Given the description of an element on the screen output the (x, y) to click on. 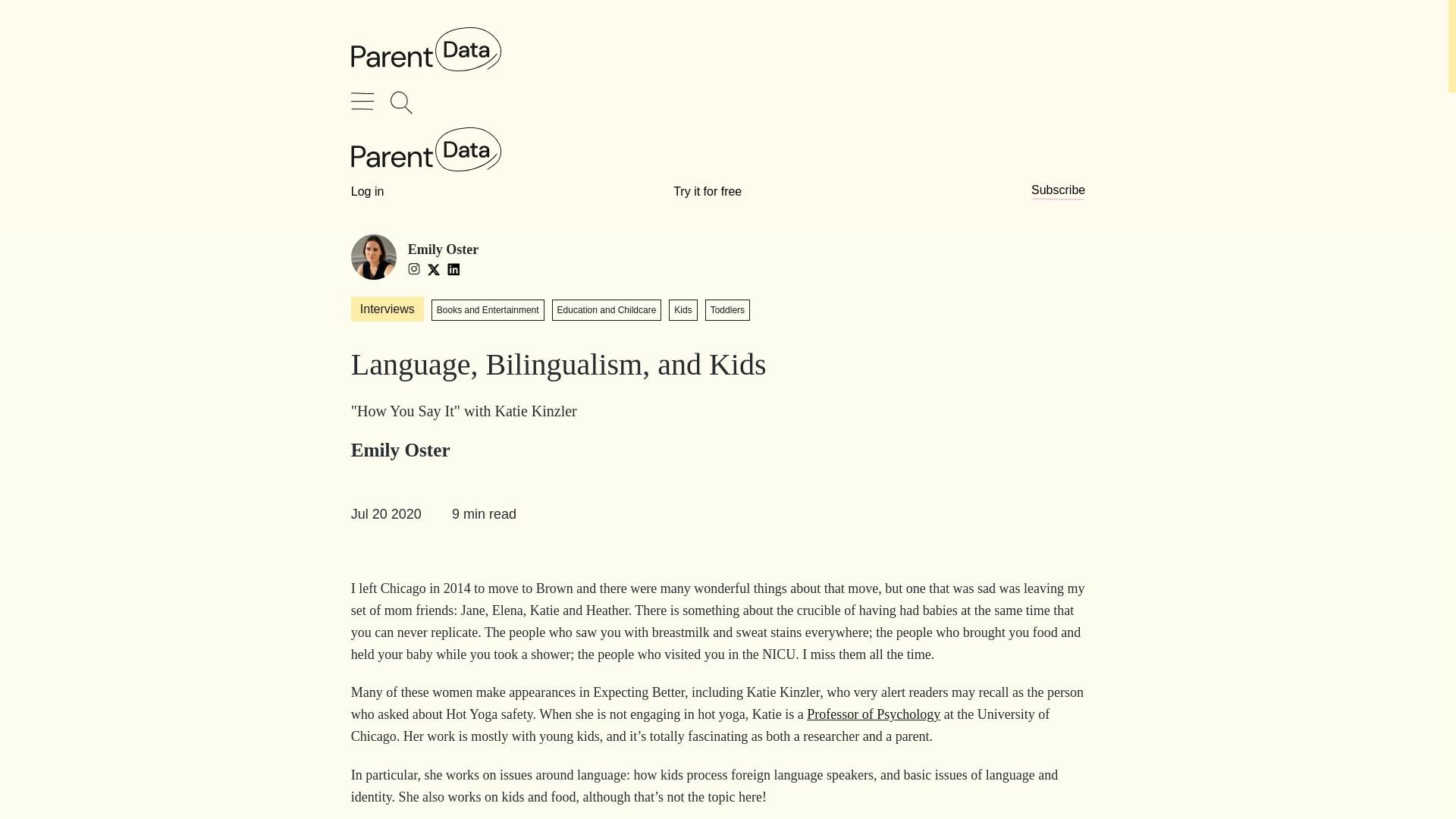
Books and Entertainment (487, 310)
Kids (682, 310)
Log in (367, 191)
Emily Oster (373, 260)
Toddlers (726, 310)
Professor of Psychology (873, 713)
Education and Childcare (606, 310)
Interviews (386, 308)
Try it for free (706, 191)
Subscribe (1057, 190)
